Given the description of an element on the screen output the (x, y) to click on. 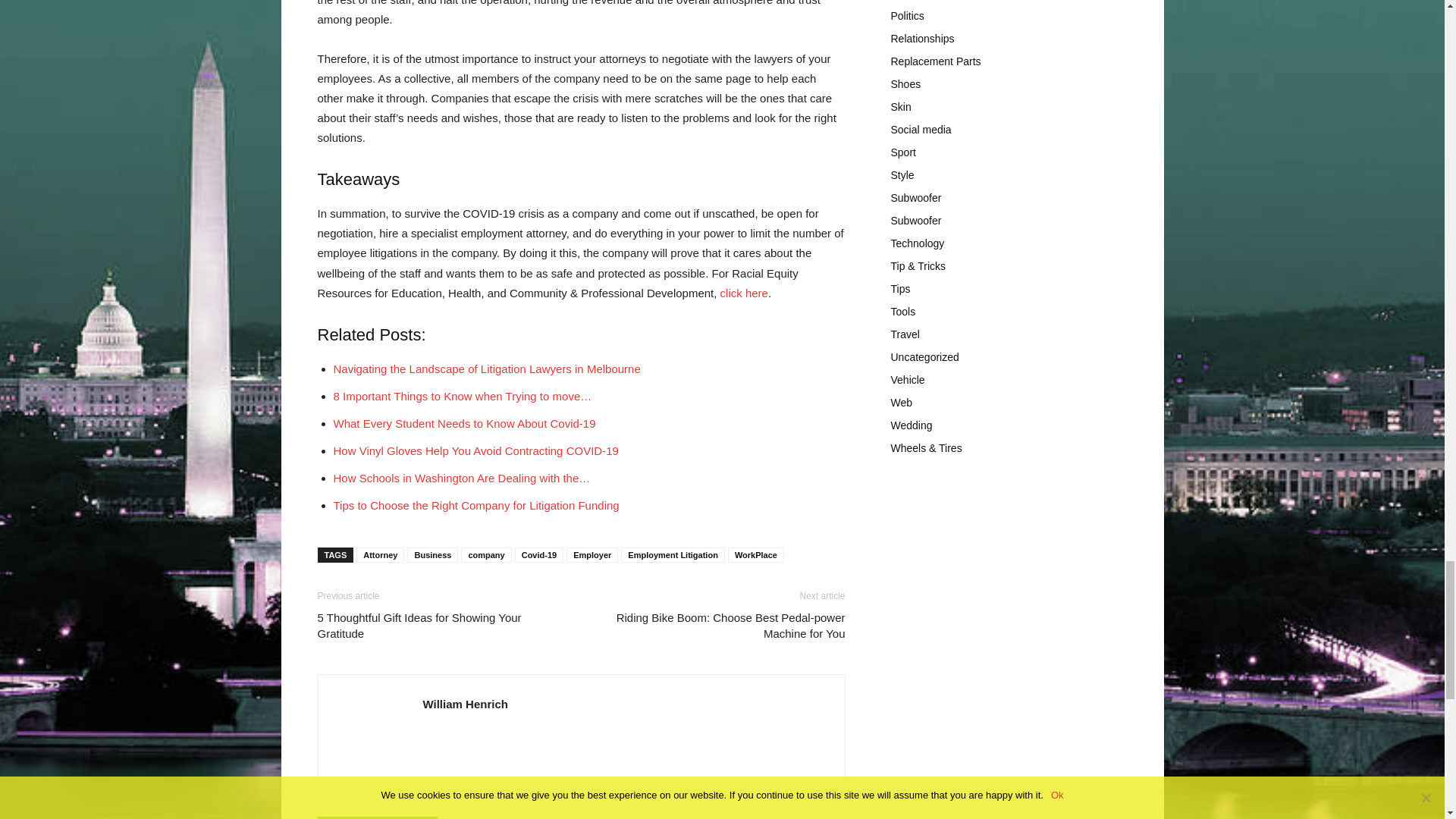
How Vinyl Gloves Help You Avoid Contracting COVID-19 (475, 450)
Tips to Choose the Right Company for Litigation Funding (476, 504)
Business (432, 554)
What Every Student Needs to Know About Covid-19 (464, 422)
Navigating the Landscape of Litigation Lawyers in Melbourne (486, 368)
click here (744, 292)
Attorney (380, 554)
